Given the description of an element on the screen output the (x, y) to click on. 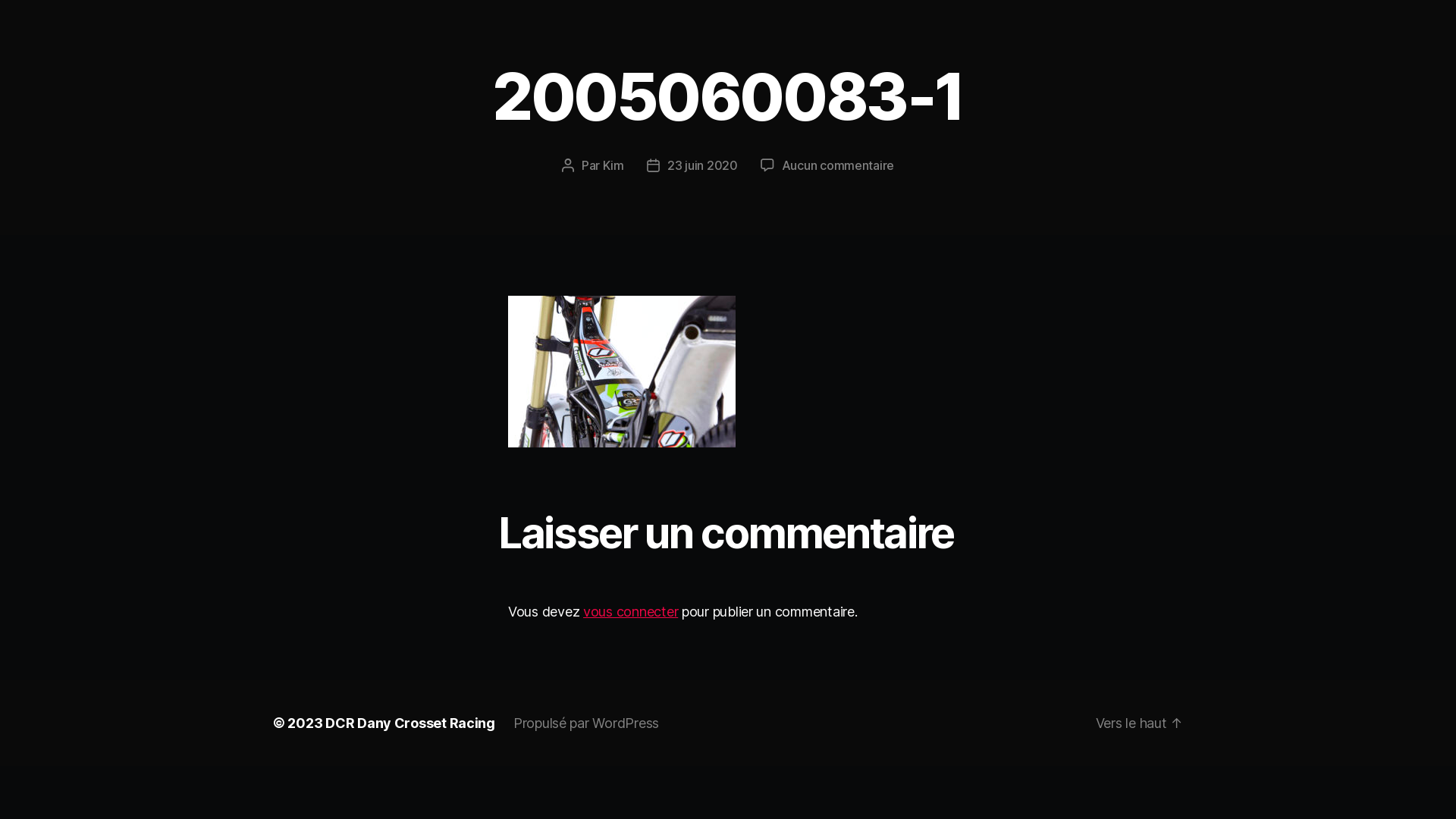
Aucun commentaire Element type: text (837, 164)
vous connecter Element type: text (630, 611)
Kim Element type: text (613, 164)
23 juin 2020 Element type: text (702, 164)
DCR Dany Crosset Racing Element type: text (410, 723)
